Given the description of an element on the screen output the (x, y) to click on. 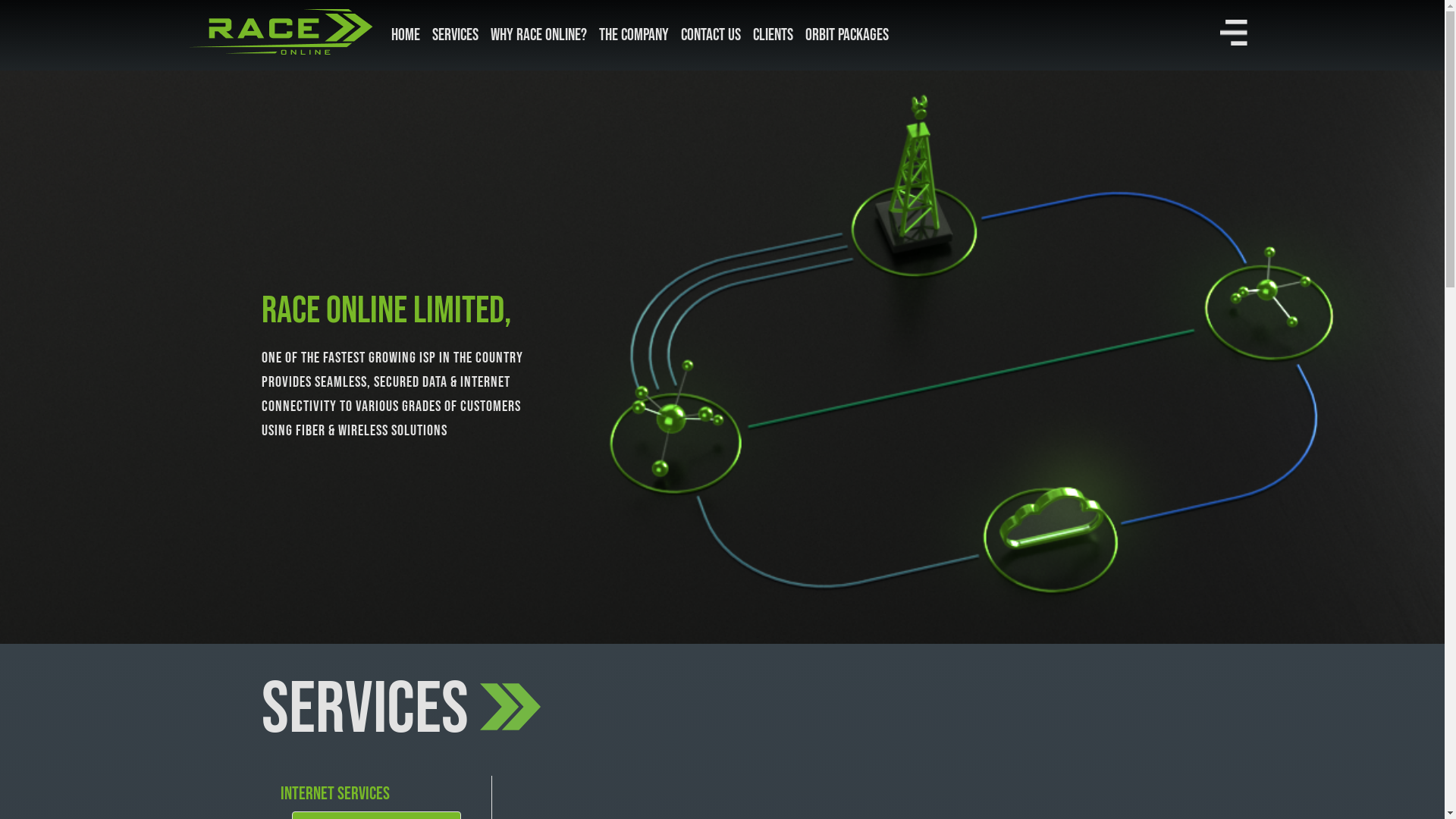
Contact Us Element type: text (710, 35)
Clients Element type: text (772, 35)
INTERNET SERVICES Element type: text (376, 793)
Orbit Packages Element type: text (846, 35)
The Company Element type: text (633, 35)
Why Race Online? Element type: text (537, 35)
Home Element type: text (405, 35)
Services Element type: text (455, 35)
